Given the description of an element on the screen output the (x, y) to click on. 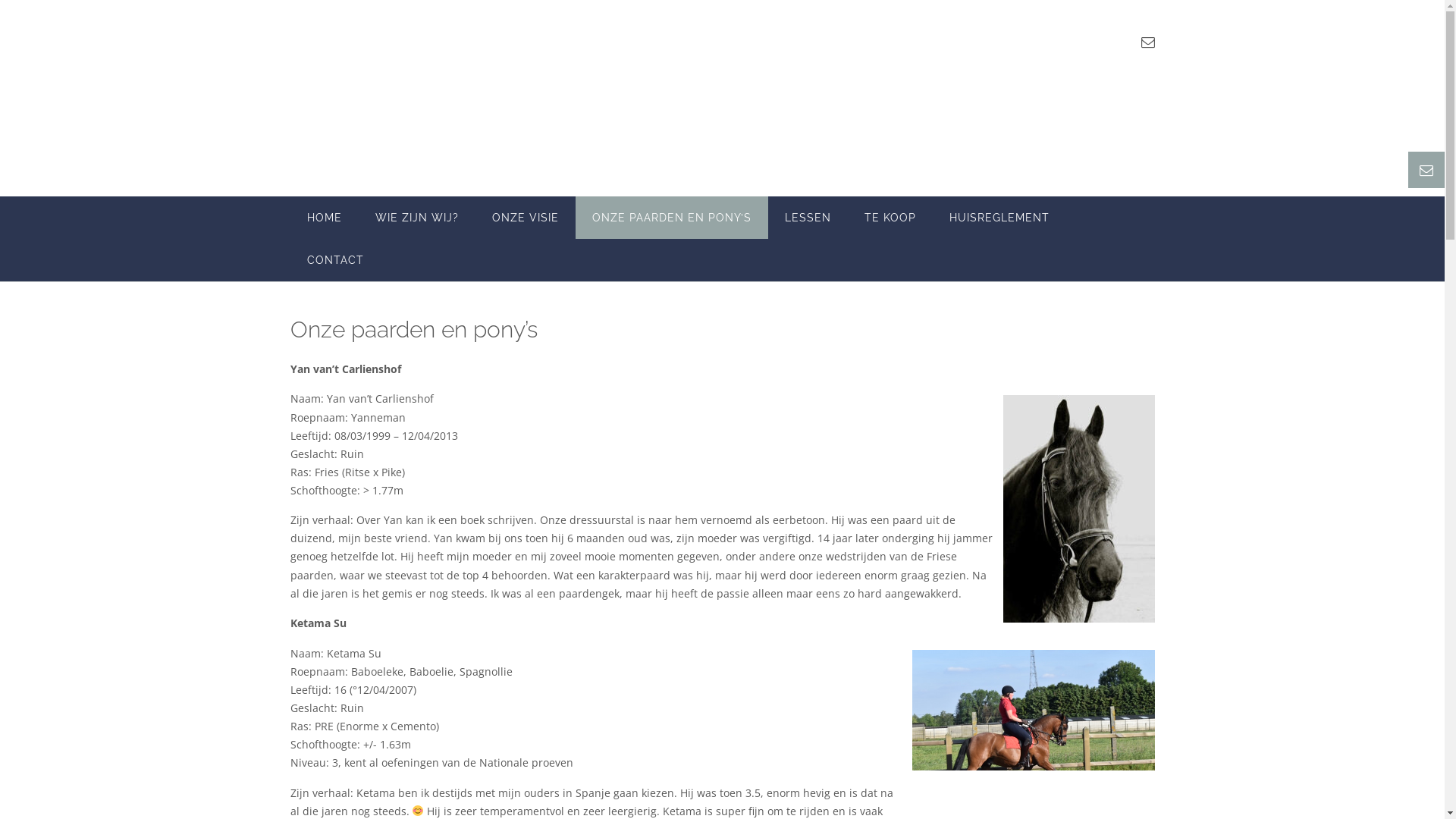
ONZE VISIE Element type: text (524, 217)
Stuur ons een e-mail Element type: hover (1426, 169)
CONTACT Element type: text (334, 259)
LESSEN Element type: text (807, 217)
't Carlienshof - Dressage Stable Element type: hover (384, 99)
Stuur ons een e-mail Element type: hover (1147, 41)
TE KOOP Element type: text (889, 217)
HOME Element type: text (323, 217)
WIE ZIJN WIJ? Element type: text (415, 217)
HUISREGLEMENT Element type: text (999, 217)
